Given the description of an element on the screen output the (x, y) to click on. 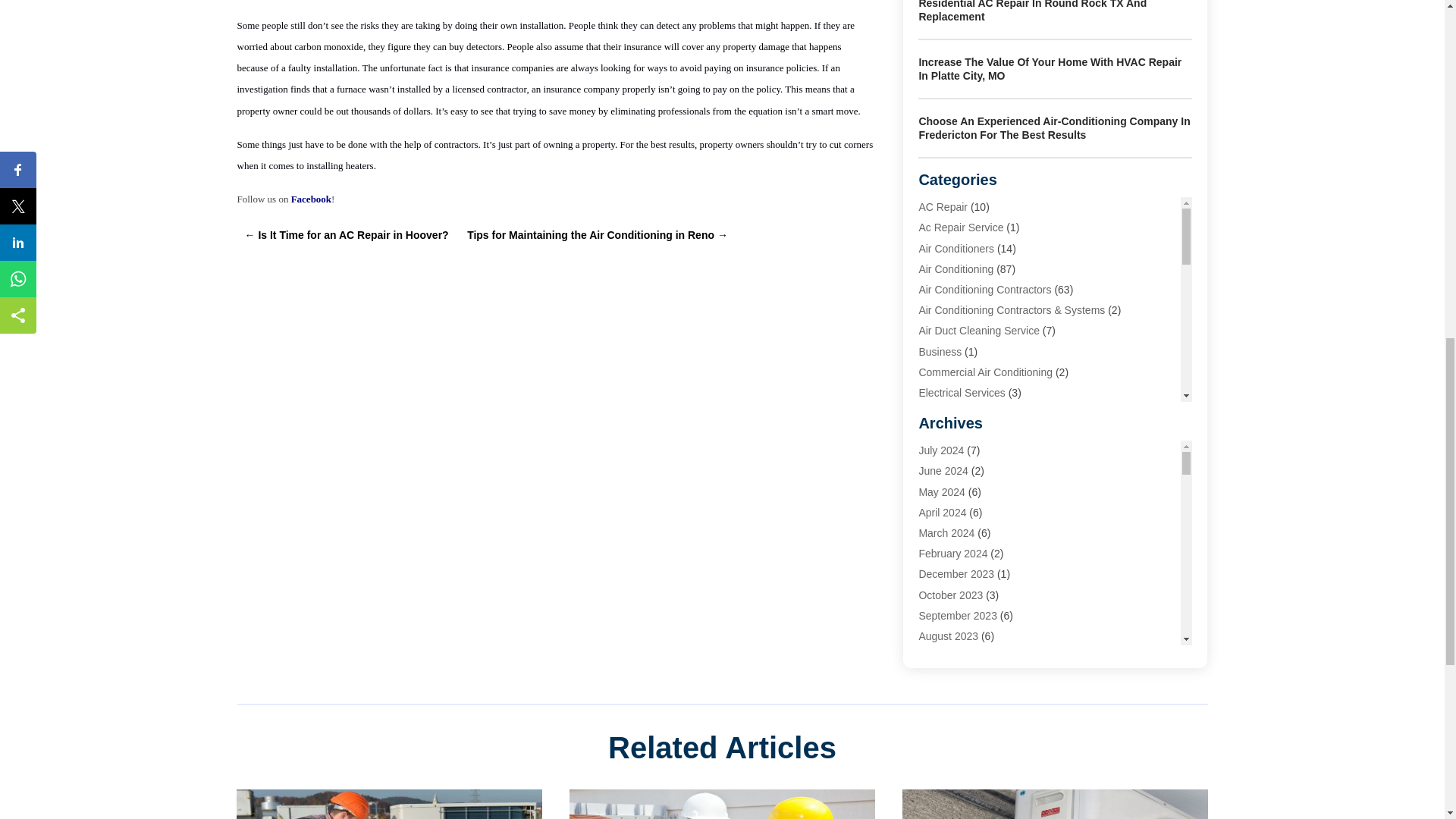
Electrical Services (961, 392)
Air Conditioners (956, 248)
Heating Contractor (962, 536)
HVAC (932, 578)
Heating And Air Conditioning (985, 495)
Business (939, 351)
Air Conditioning Contractors (984, 289)
Heating (936, 433)
AC Repair (943, 206)
Air Conditioning (955, 268)
Residential AC Repair In Round Rock TX And Replacement (1032, 11)
Heating And Cooling (966, 516)
Commercial Air Conditioning (985, 372)
